Given the description of an element on the screen output the (x, y) to click on. 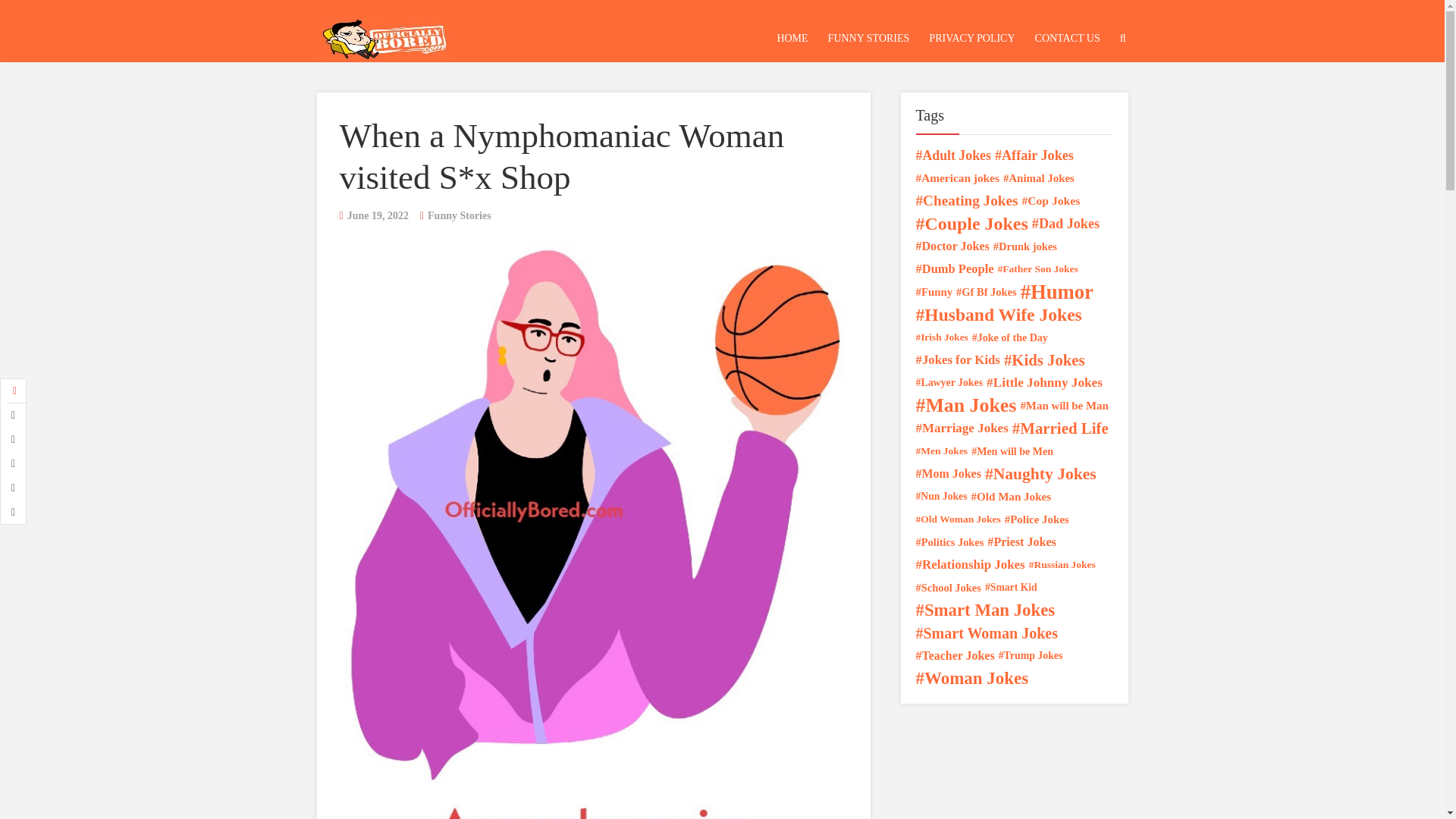
OfficiallyBored (384, 35)
Affair Jokes (1034, 155)
FUNNY STORIES (868, 38)
Funny Stories (460, 215)
Dad Jokes (1065, 223)
American jokes (956, 177)
Adult Jokes (953, 155)
Cheating Jokes (966, 200)
PRIVACY POLICY (971, 38)
CONTACT US (1067, 38)
